Given the description of an element on the screen output the (x, y) to click on. 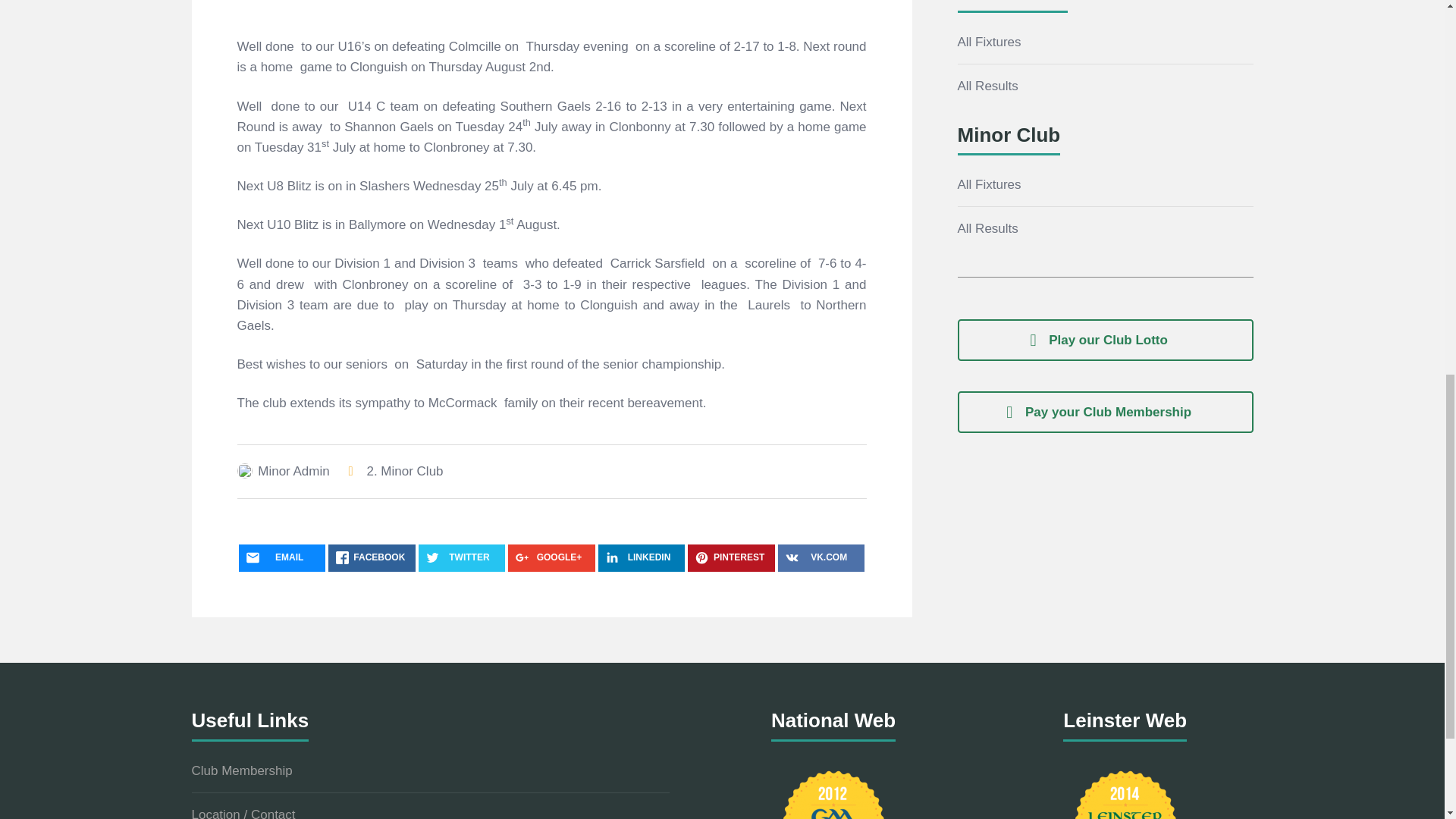
National Web (832, 791)
Leinster Web (1125, 791)
